Given the description of an element on the screen output the (x, y) to click on. 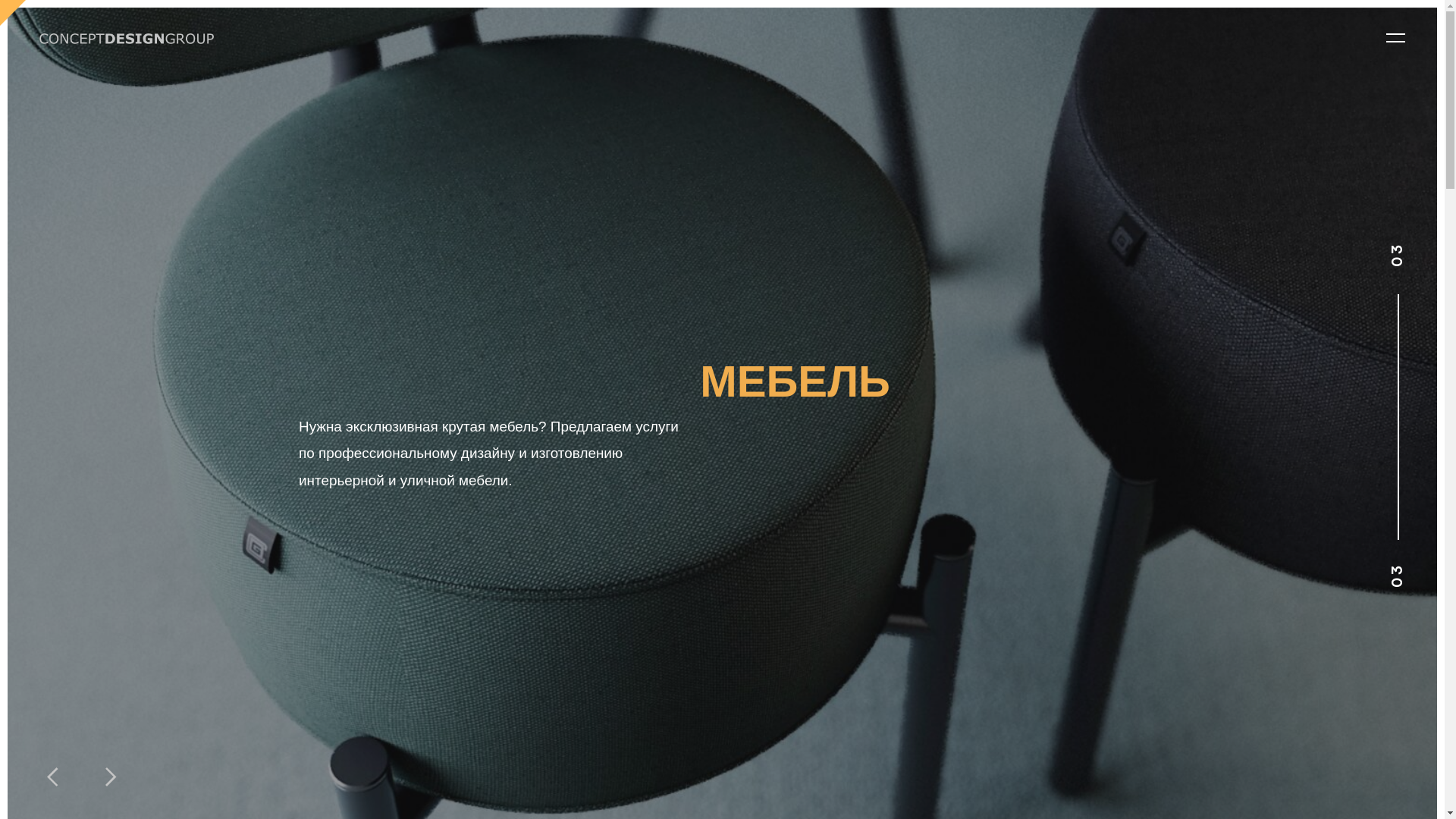
CONCEPTDESIGNGROUP Element type: hover (126, 38)
